Given the description of an element on the screen output the (x, y) to click on. 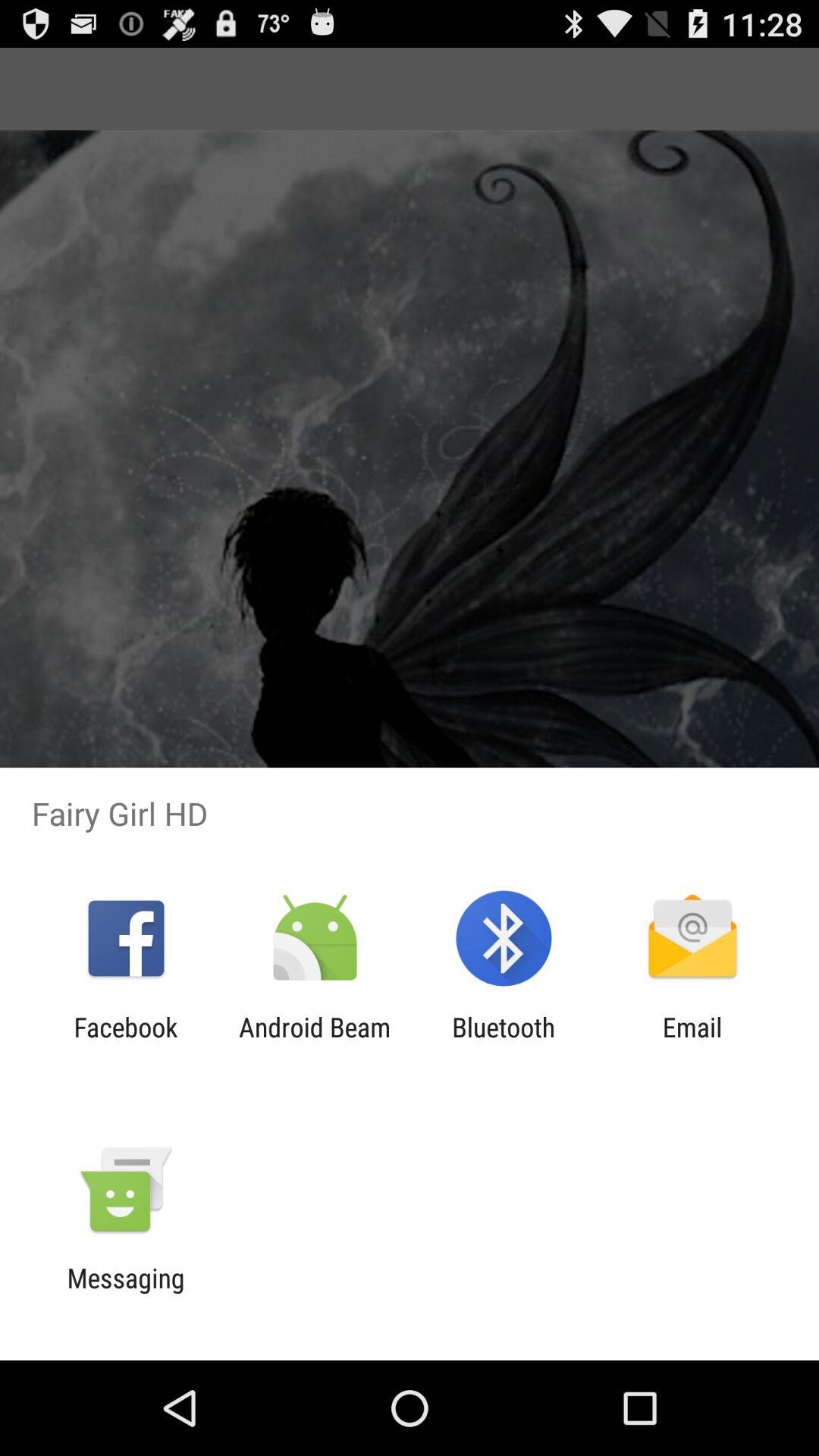
select icon next to bluetooth app (692, 1042)
